Given the description of an element on the screen output the (x, y) to click on. 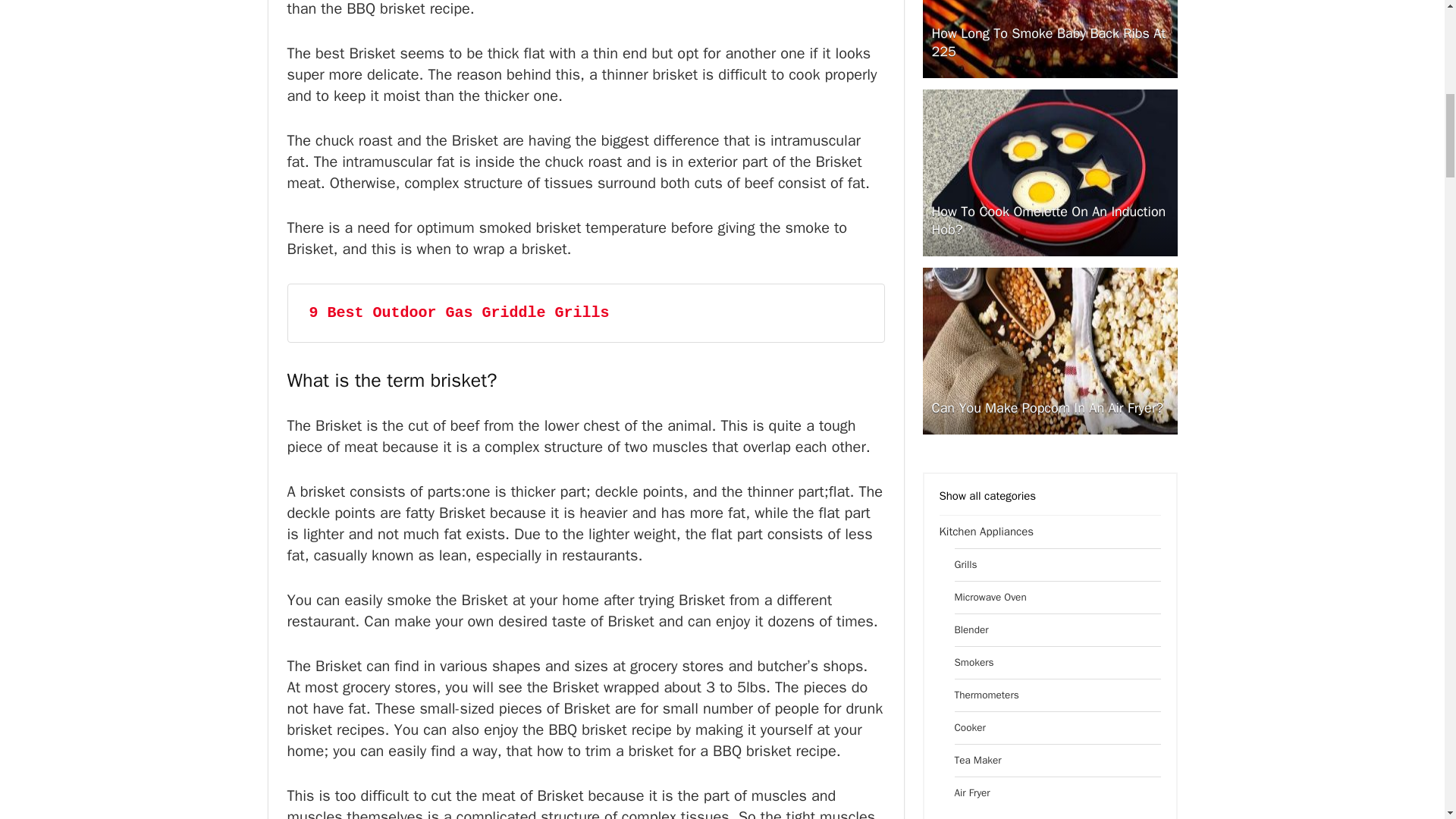
9 Best Outdoor Gas Griddle Grills (459, 312)
